Given the description of an element on the screen output the (x, y) to click on. 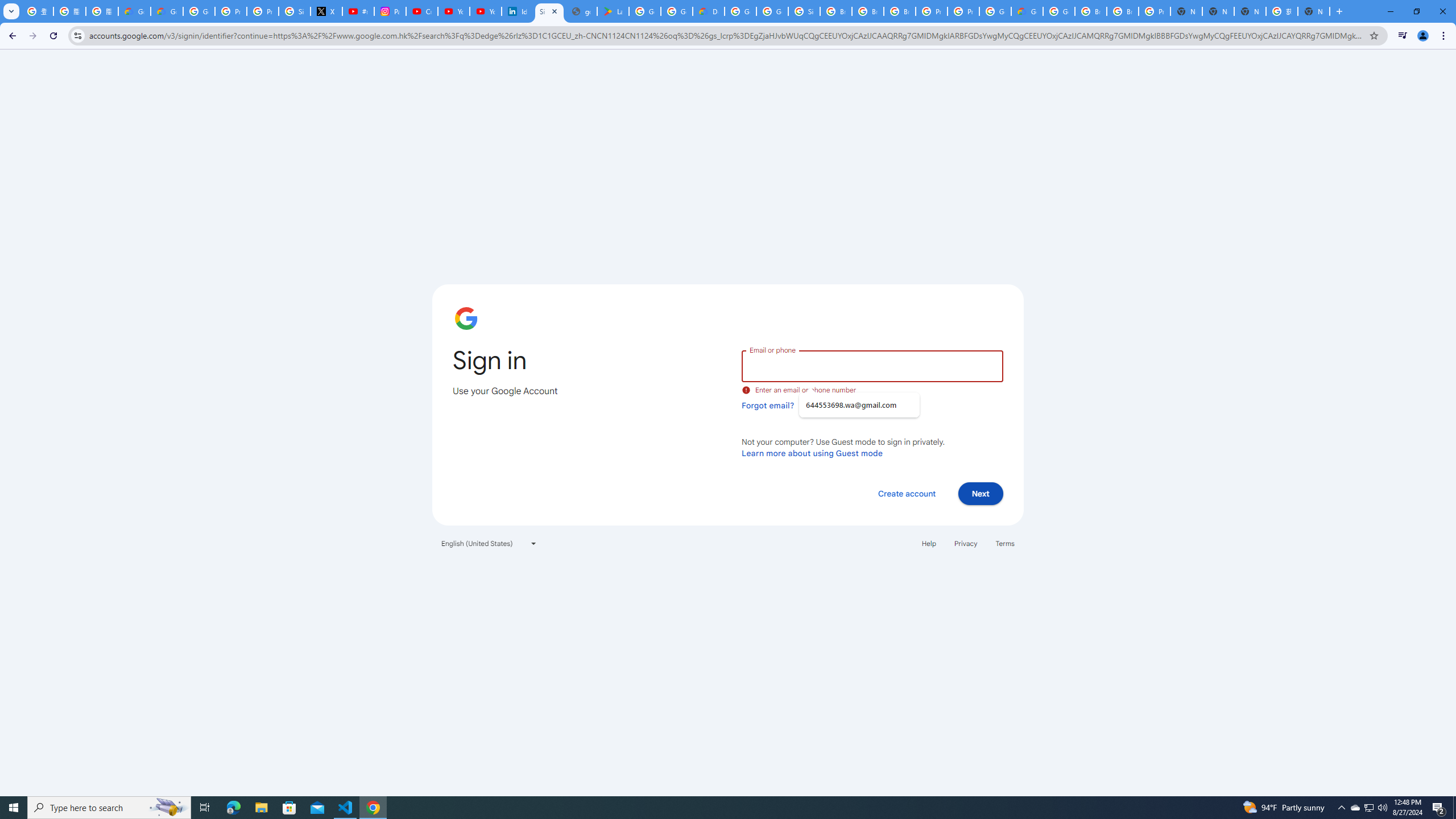
Google Cloud Platform (995, 11)
New Tab (1313, 11)
Sign in - Google Accounts (804, 11)
